Given the description of an element on the screen output the (x, y) to click on. 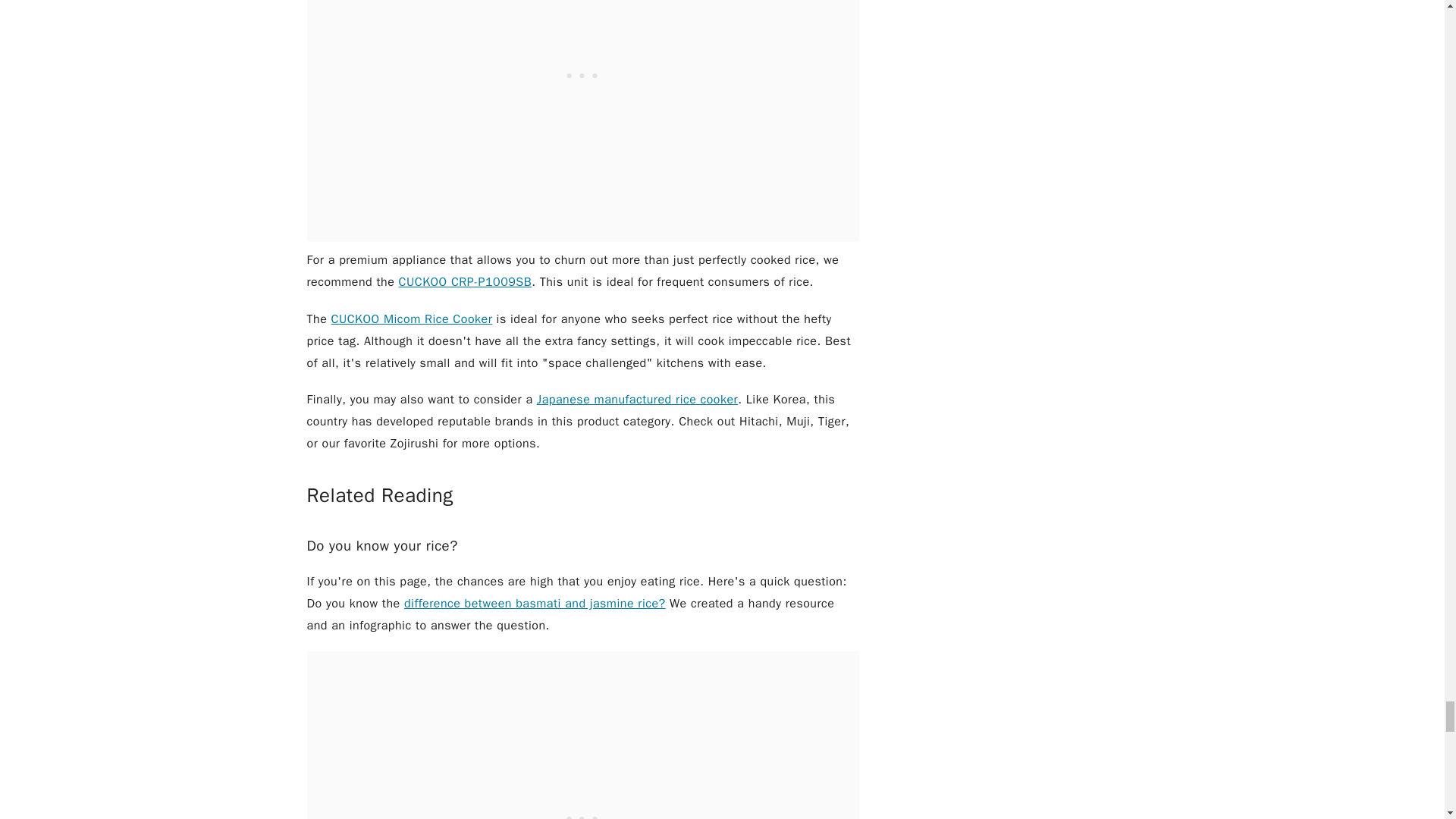
CUCKOO CRP-P1009SB (465, 281)
CUCKOO Micom Rice Cooker (412, 319)
